Given the description of an element on the screen output the (x, y) to click on. 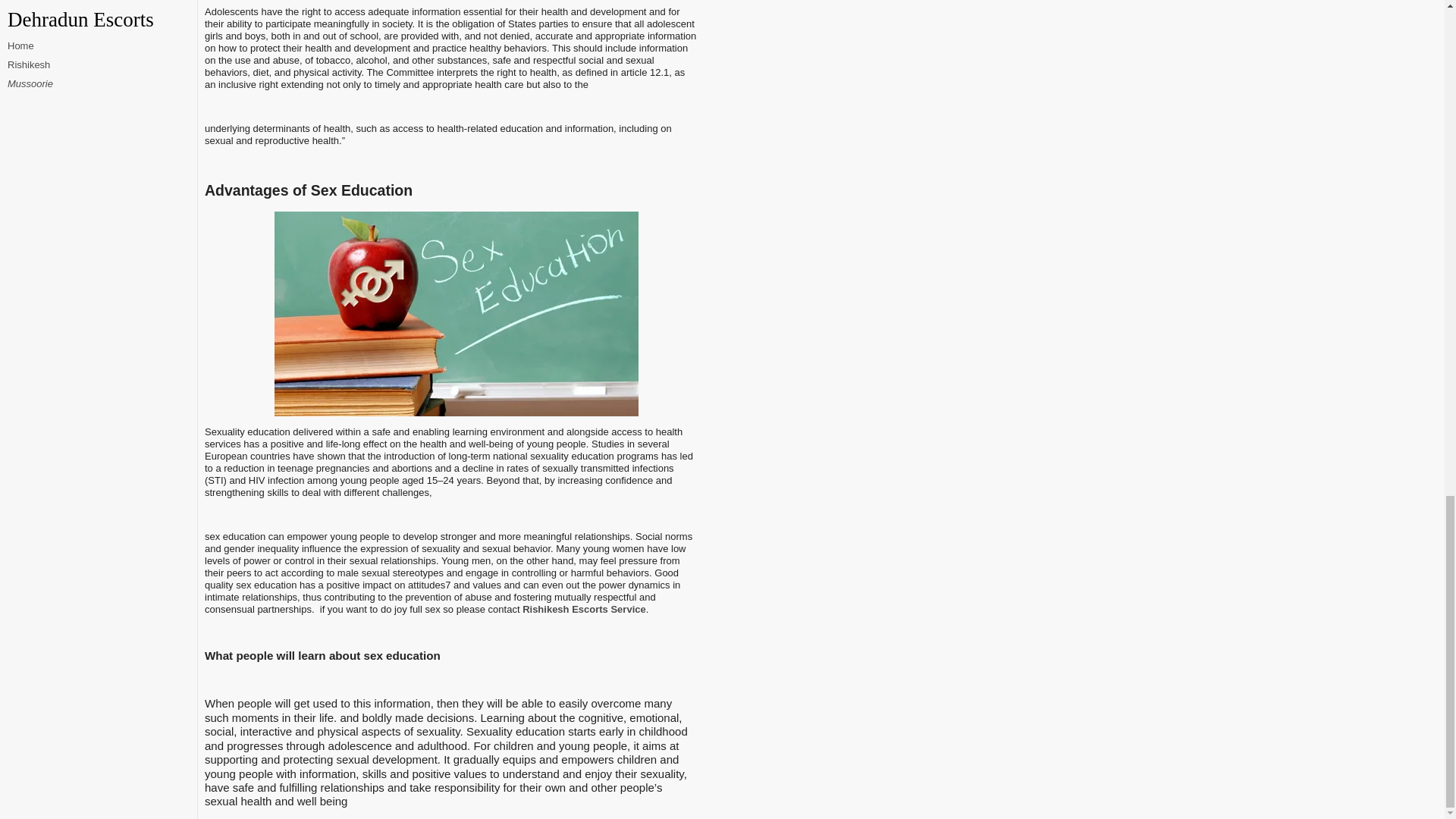
Rishikesh Escorts Service (584, 609)
